Given the description of an element on the screen output the (x, y) to click on. 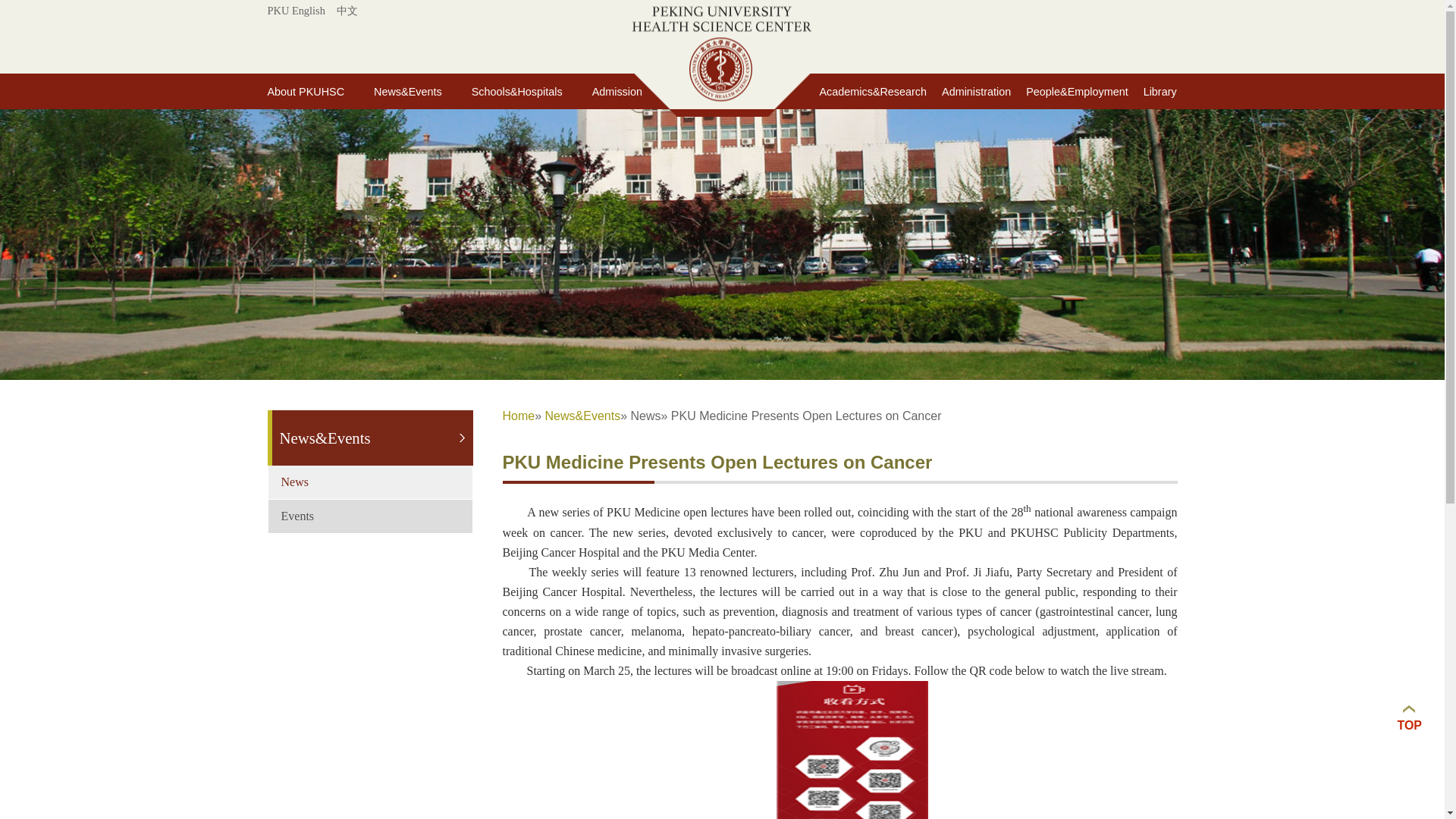
About PKUHSC (320, 91)
Library (1152, 91)
PKU English (295, 11)
Administration (968, 91)
Admission (631, 91)
